Given the description of an element on the screen output the (x, y) to click on. 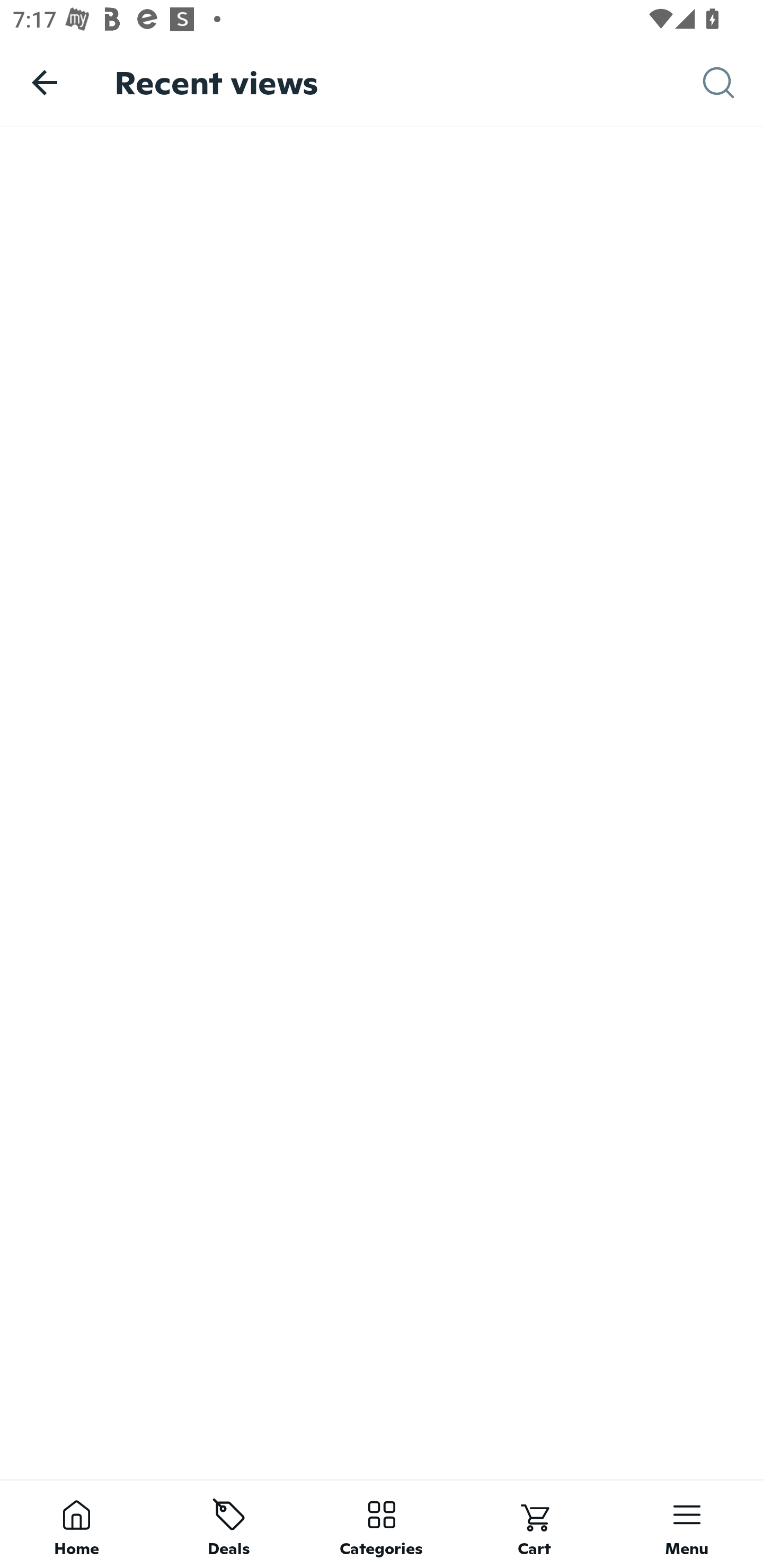
Navigate up (44, 82)
Search (732, 82)
Home (76, 1523)
Deals (228, 1523)
Categories (381, 1523)
Cart (533, 1523)
Menu (686, 1523)
